Given the description of an element on the screen output the (x, y) to click on. 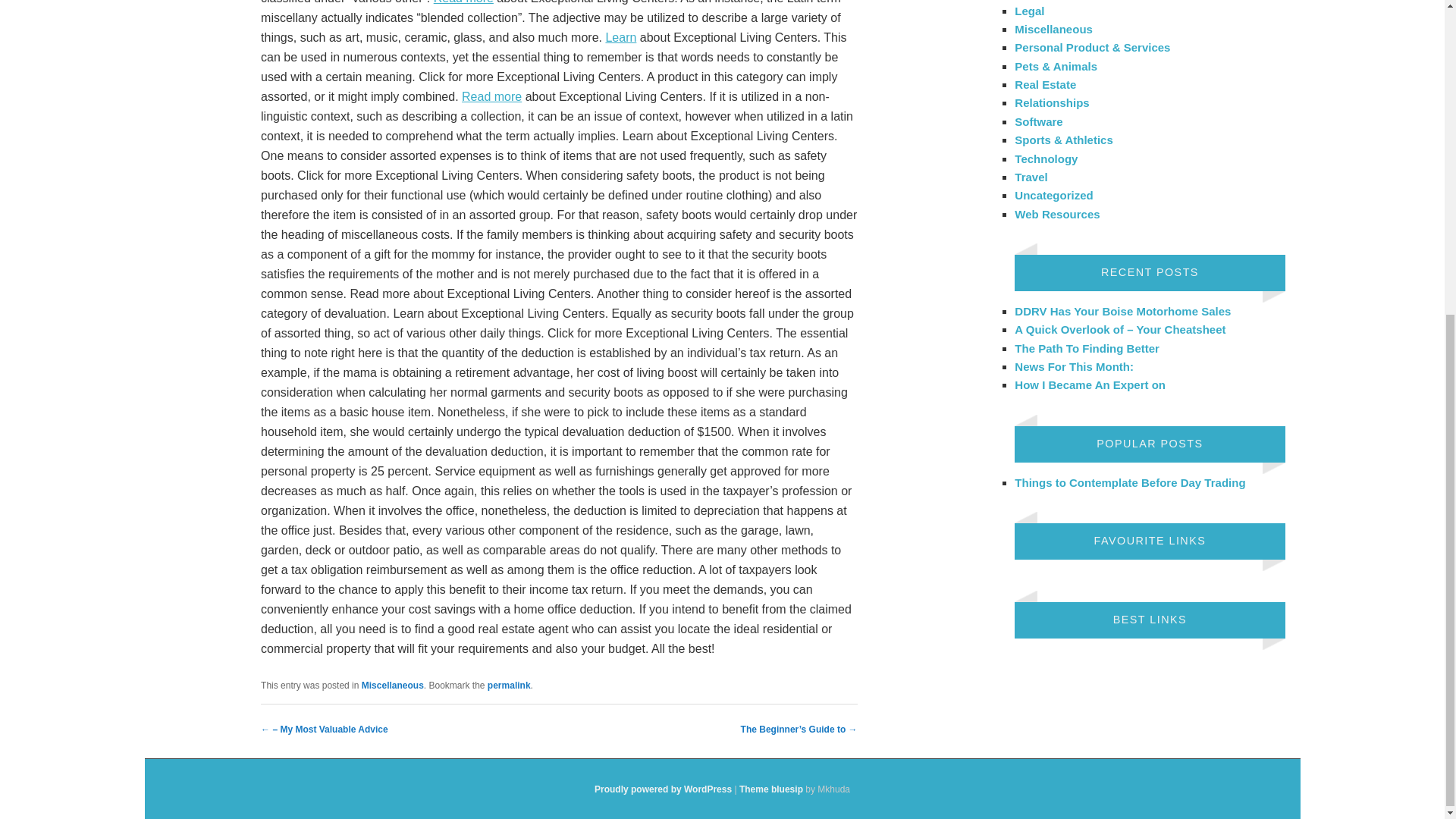
Software (1038, 121)
Technology (1045, 157)
Miscellaneous (392, 685)
Learn (620, 37)
Things to Contemplate Before Day Trading (1129, 481)
permalink (509, 685)
Mkhuda (771, 788)
Legal (1028, 10)
Read more (463, 2)
Relationships (1051, 102)
Read more (491, 96)
Travel (1030, 176)
A Semantic Personal Publishing Platform (663, 788)
Real Estate (1044, 83)
